Given the description of an element on the screen output the (x, y) to click on. 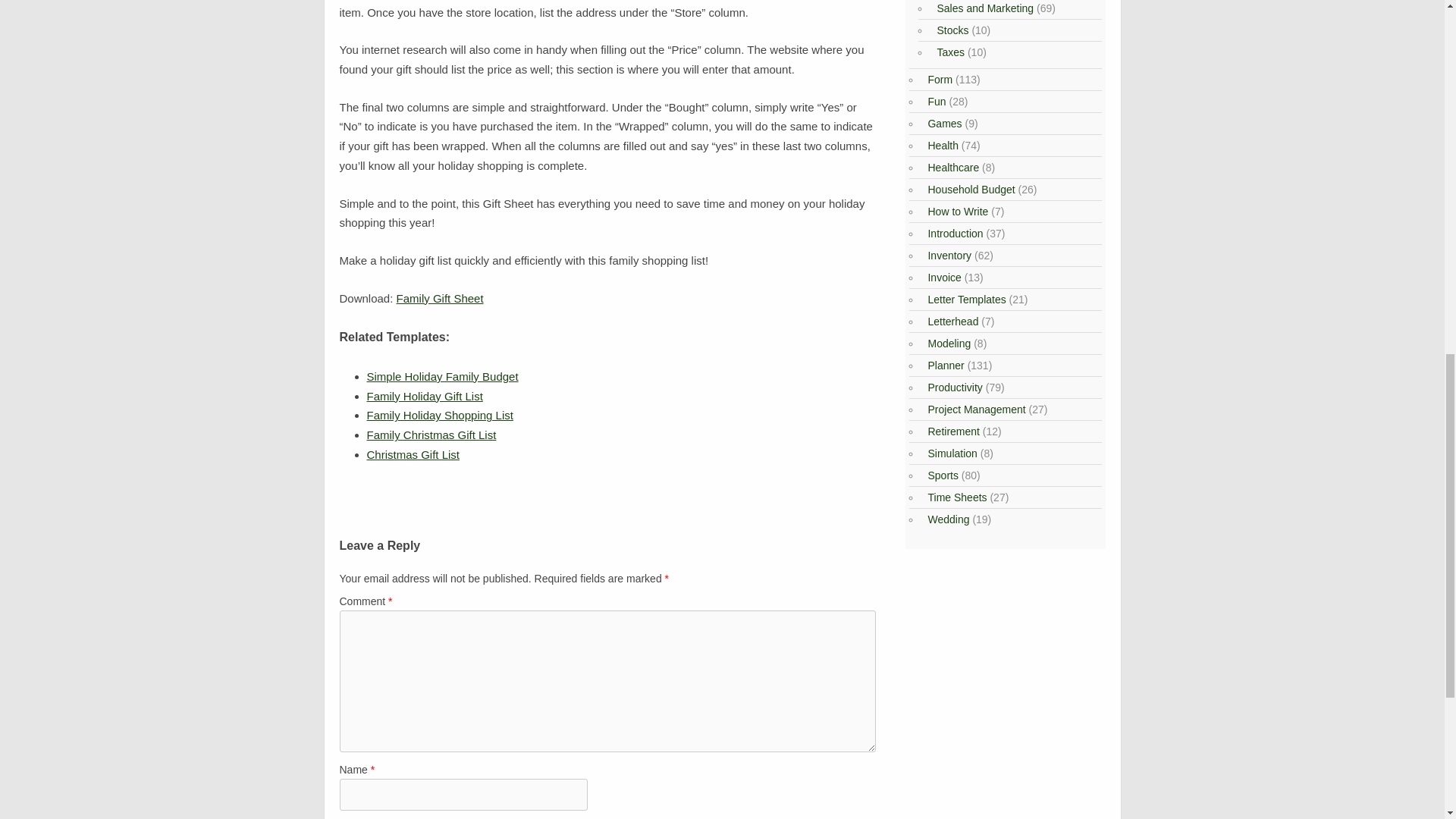
November 23, 2015 (431, 434)
Family Holiday Gift List (424, 395)
November 23, 2015 (439, 414)
Christmas Gift List (413, 454)
November 1, 2009 (413, 454)
Family Gift Sheet (439, 297)
Family Christmas Gift List (431, 434)
November 23, 2015 (424, 395)
November 23, 2015 (442, 376)
Family Holiday Shopping List (439, 414)
Simple Holiday Family Budget (442, 376)
